Given the description of an element on the screen output the (x, y) to click on. 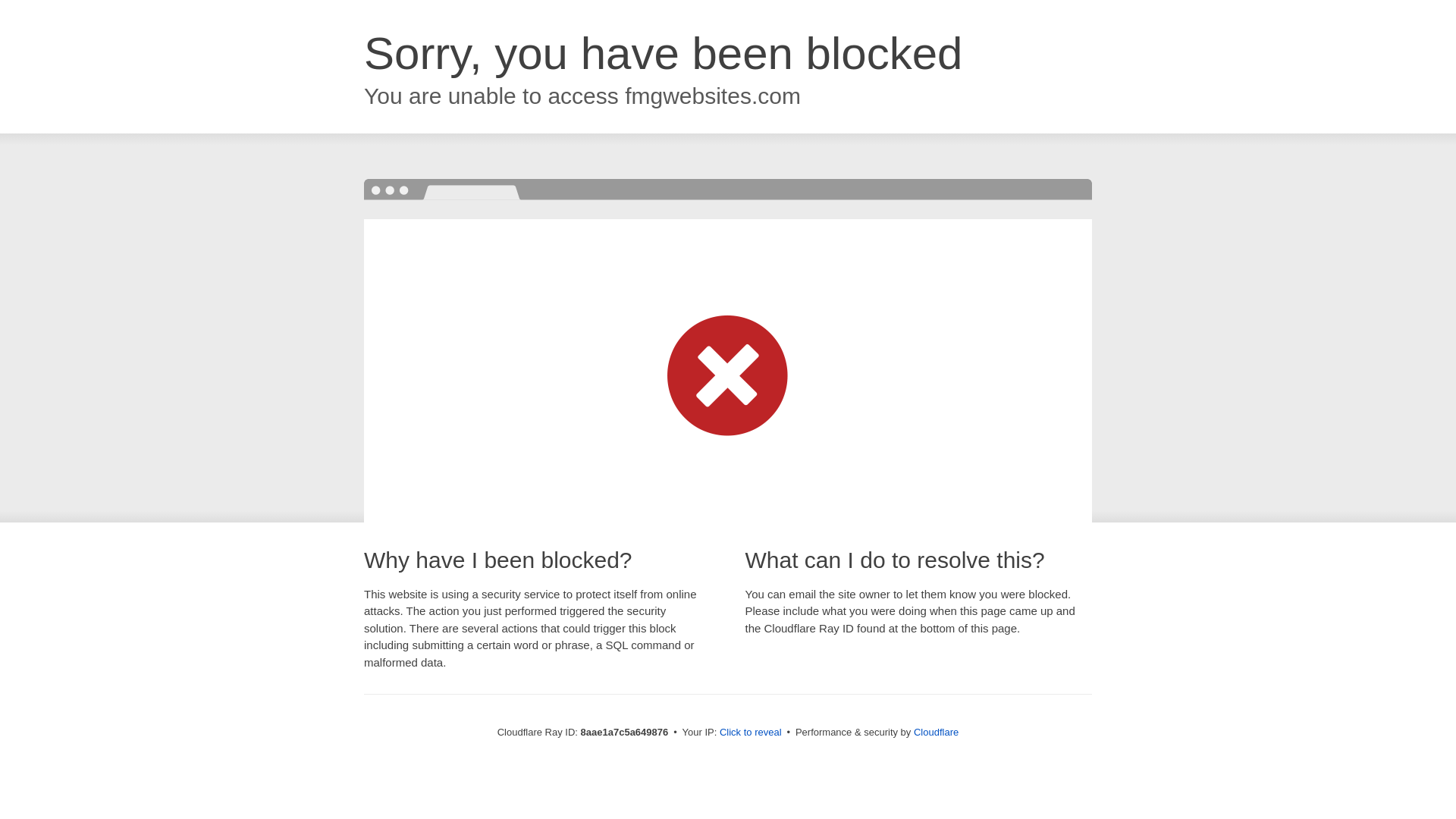
Cloudflare (936, 731)
Click to reveal (750, 732)
